Given the description of an element on the screen output the (x, y) to click on. 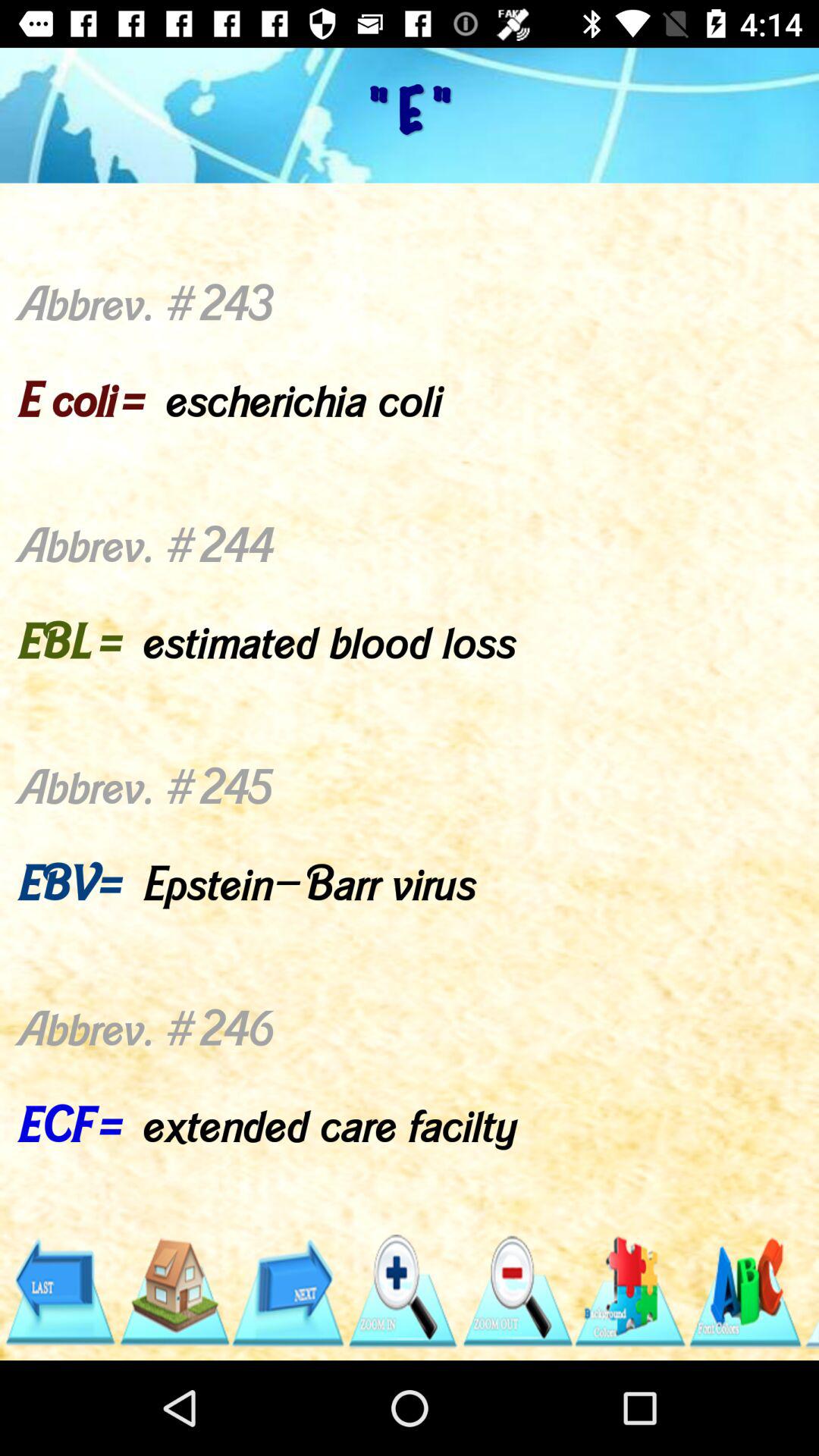
go to home page (173, 1291)
